Given the description of an element on the screen output the (x, y) to click on. 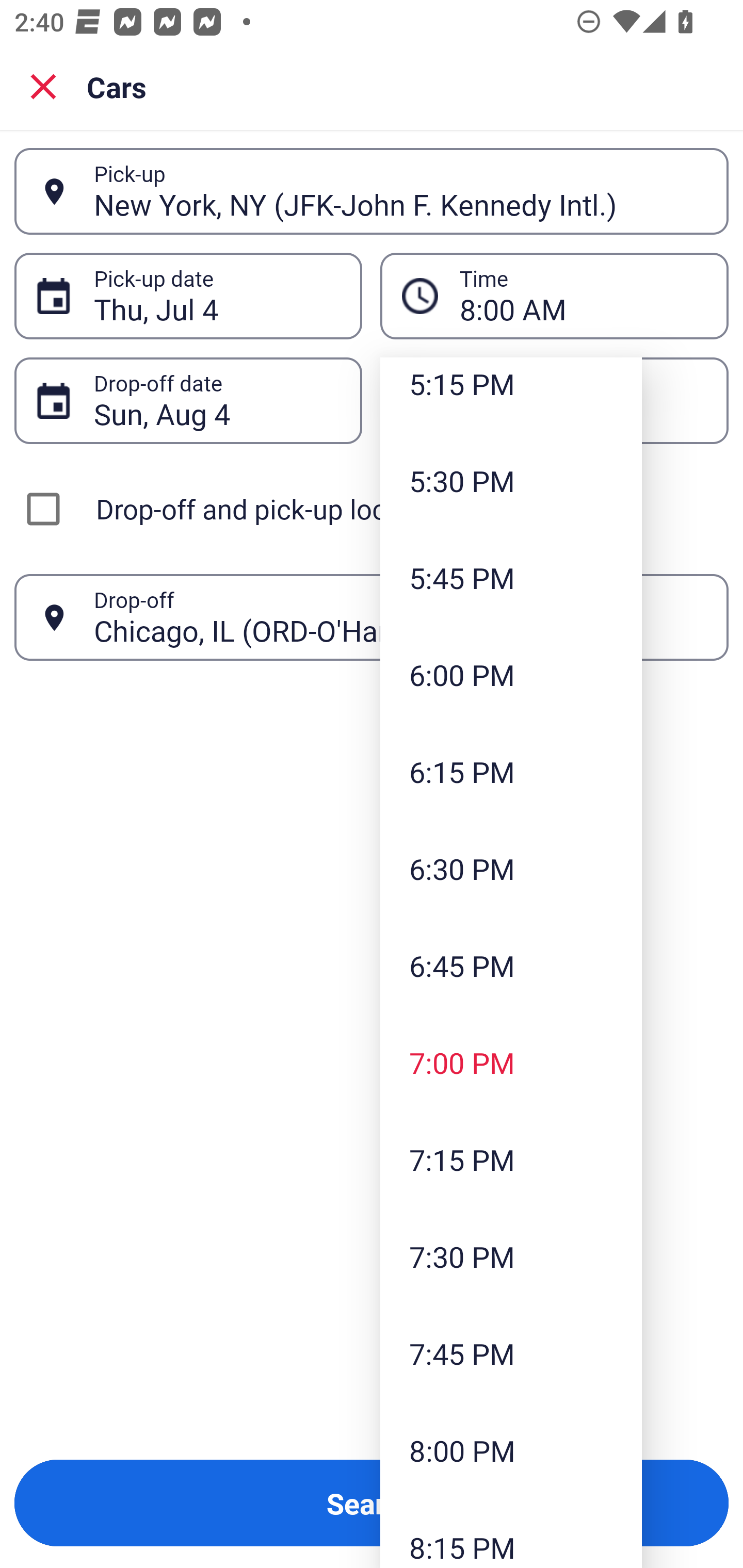
5:15 PM (510, 394)
5:30 PM (510, 480)
5:45 PM (510, 577)
6:00 PM (510, 673)
6:15 PM (510, 771)
6:30 PM (510, 868)
6:45 PM (510, 965)
7:00 PM (510, 1062)
7:15 PM (510, 1159)
7:30 PM (510, 1255)
7:45 PM (510, 1352)
8:00 PM (510, 1450)
8:15 PM (510, 1533)
